Given the description of an element on the screen output the (x, y) to click on. 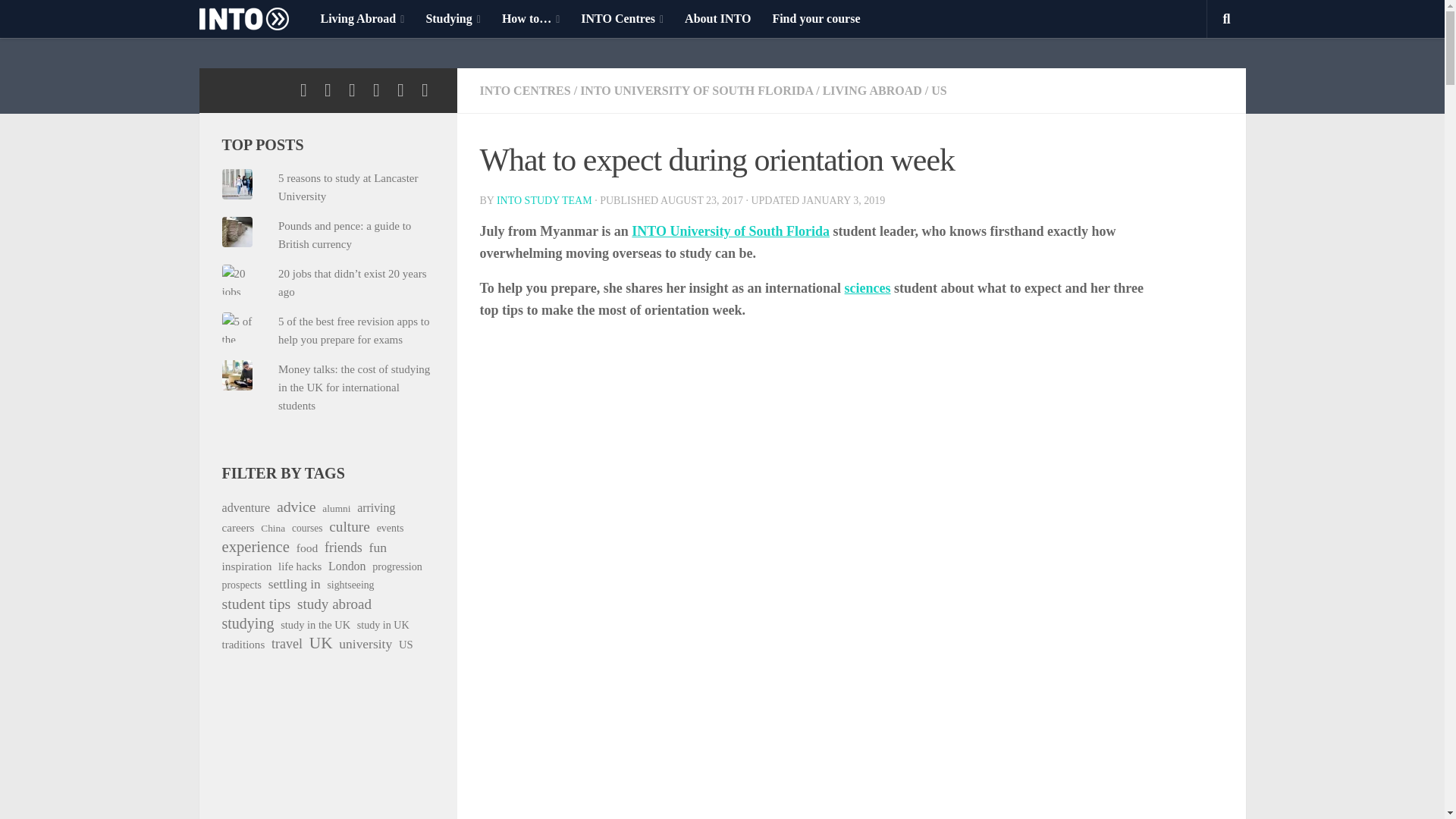
INTO Centres (622, 18)
Find your course (815, 18)
Posts by INTO Study Team (544, 200)
Studying (453, 18)
Living Abroad (361, 18)
About INTO (717, 18)
Instagram (303, 90)
Menu Item (253, 18)
